Given the description of an element on the screen output the (x, y) to click on. 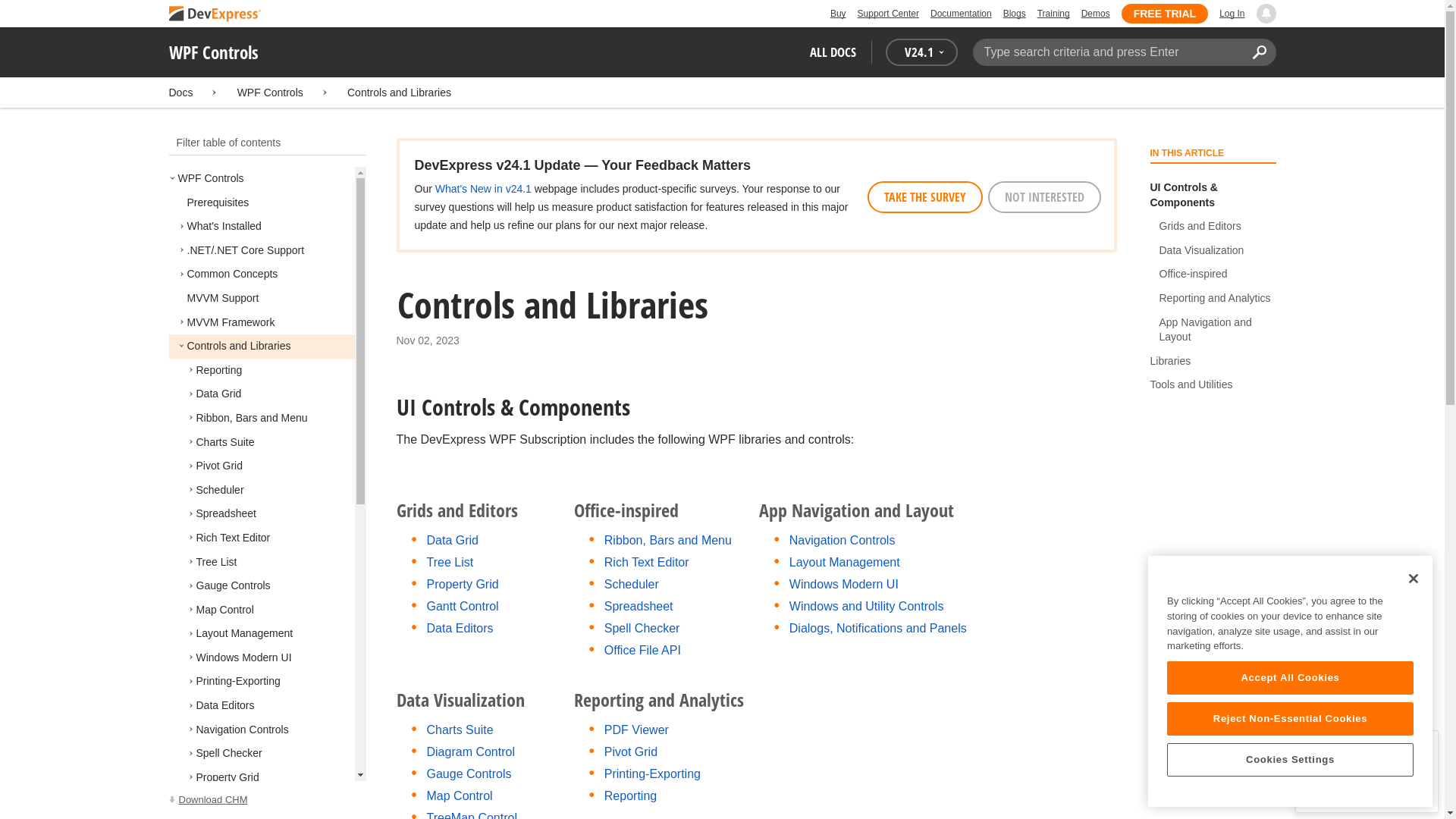
WPF Controls (269, 92)
WPF Controls, v24.1 (266, 800)
ALL DOCS (832, 52)
Log In (1232, 13)
Documentation (960, 13)
App Navigation and Layout (1213, 330)
FREE TRIAL (1164, 13)
Demos (1095, 13)
Reporting and Analytics (1213, 298)
Tools and Utilities (1213, 385)
Reporting and Analytics (1215, 298)
Data Visualization (1213, 250)
Tools and Utilities (1192, 385)
Office-inspired (1193, 273)
Blogs (1014, 13)
